Given the description of an element on the screen output the (x, y) to click on. 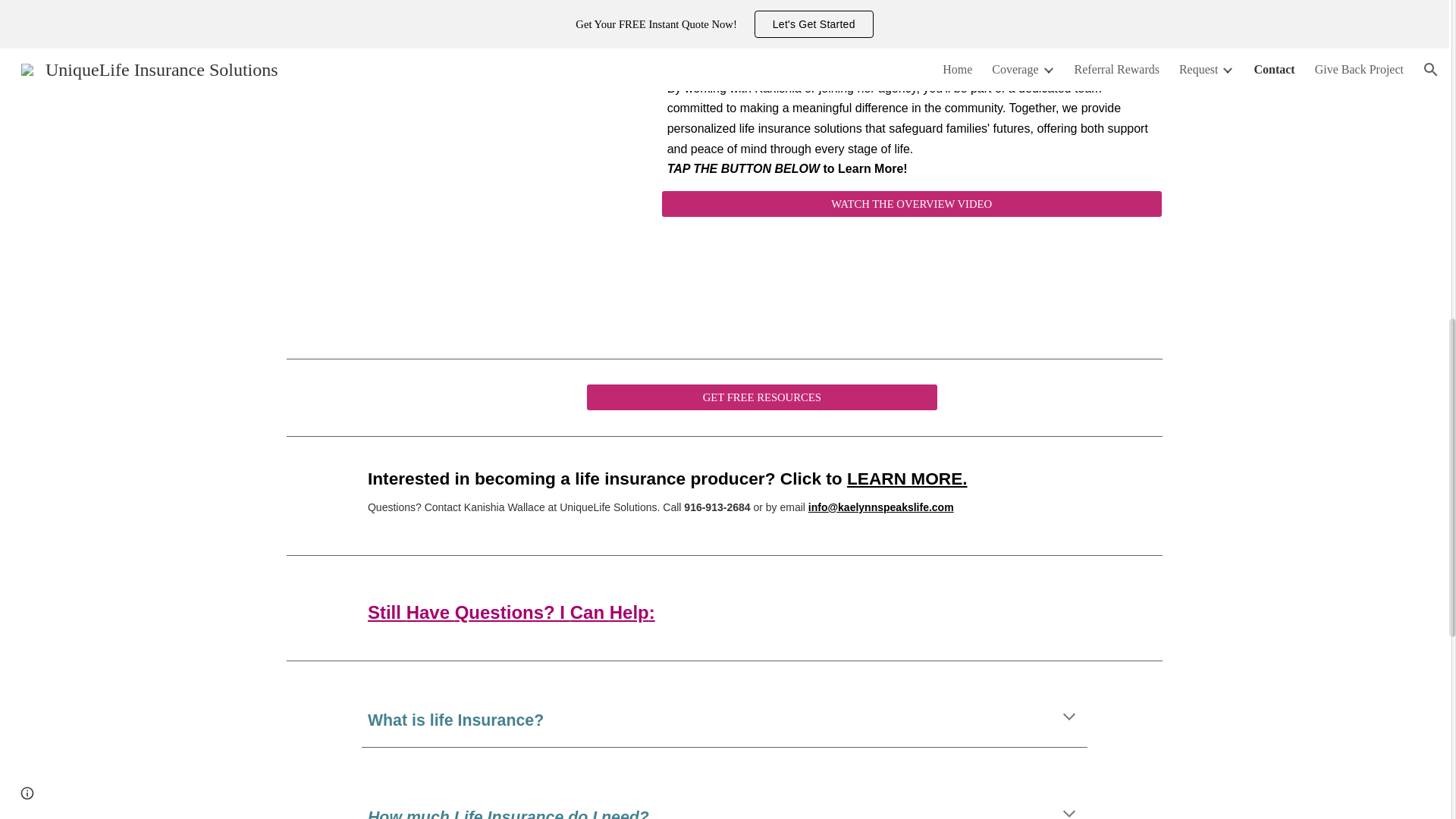
LEARN MORE. (907, 480)
GET FREE RESOURCES (761, 397)
WATCH THE OVERVIEW VIDEO (911, 203)
